Given the description of an element on the screen output the (x, y) to click on. 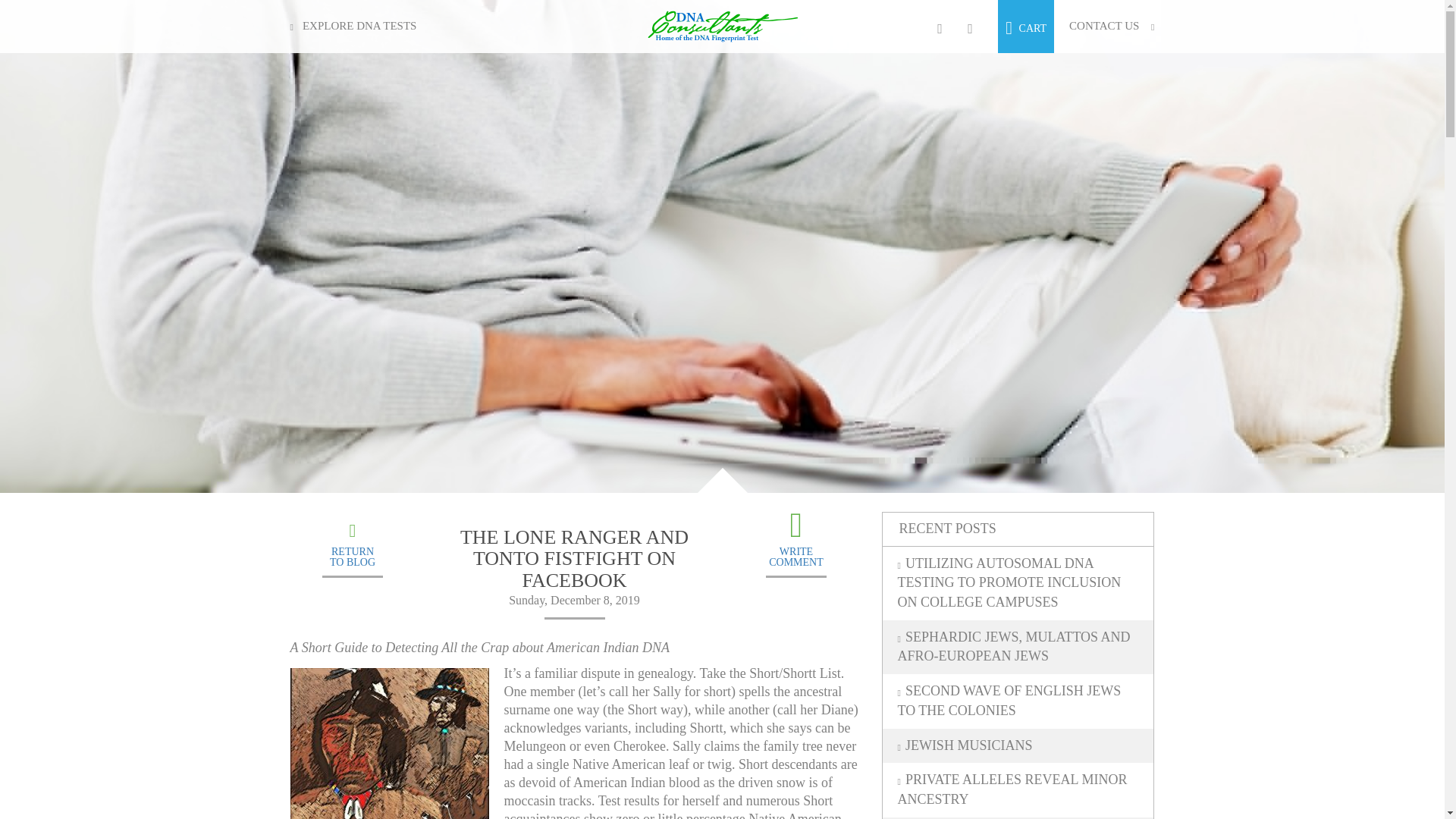
cart (796, 554)
Second Wave of English Jews to the Colonies (1026, 26)
Jewish Musicians (1018, 701)
CART (1018, 745)
Private Alleles Reveal Minor Ancestry (1026, 26)
SEPHARDIC JEWS, MULATTOS AND AFRO-EUROPEAN JEWS (1018, 789)
Sephardic Jews, Mulattos and Afro-European Jews (1018, 646)
